Given the description of an element on the screen output the (x, y) to click on. 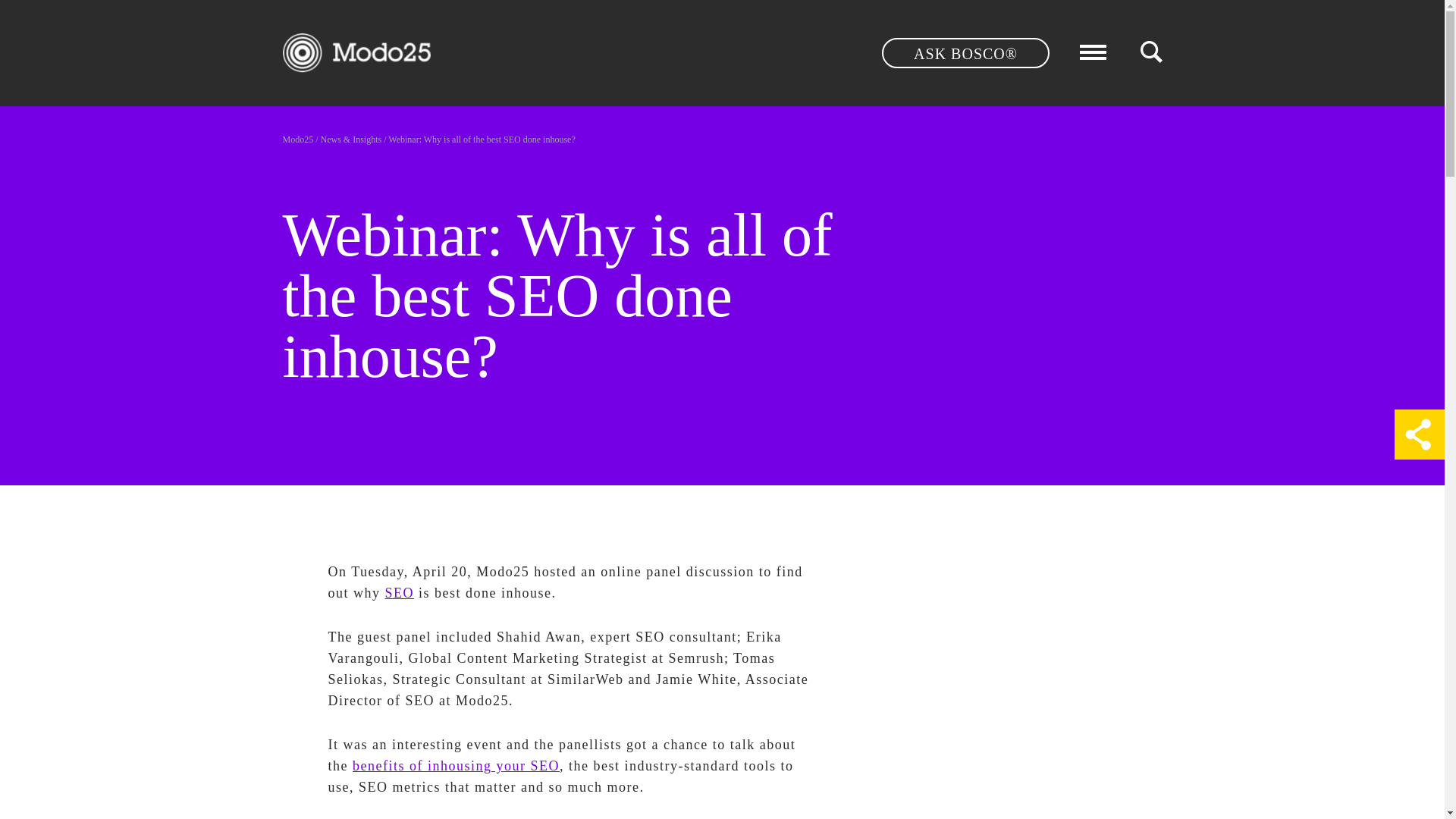
Search (1010, 45)
Modo25 (355, 52)
Modo25 (297, 139)
